Given the description of an element on the screen output the (x, y) to click on. 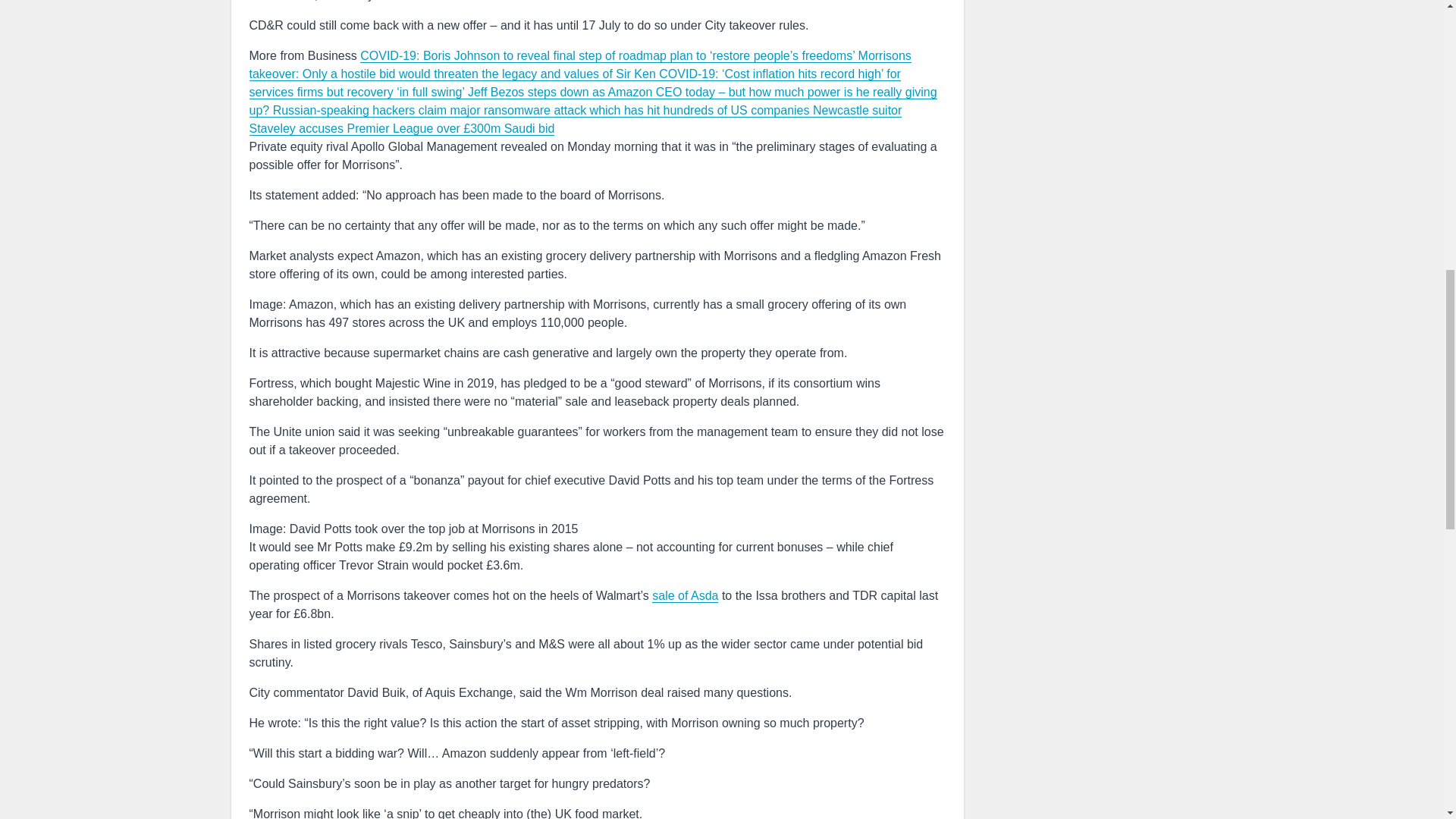
sale of Asda (684, 595)
